Given the description of an element on the screen output the (x, y) to click on. 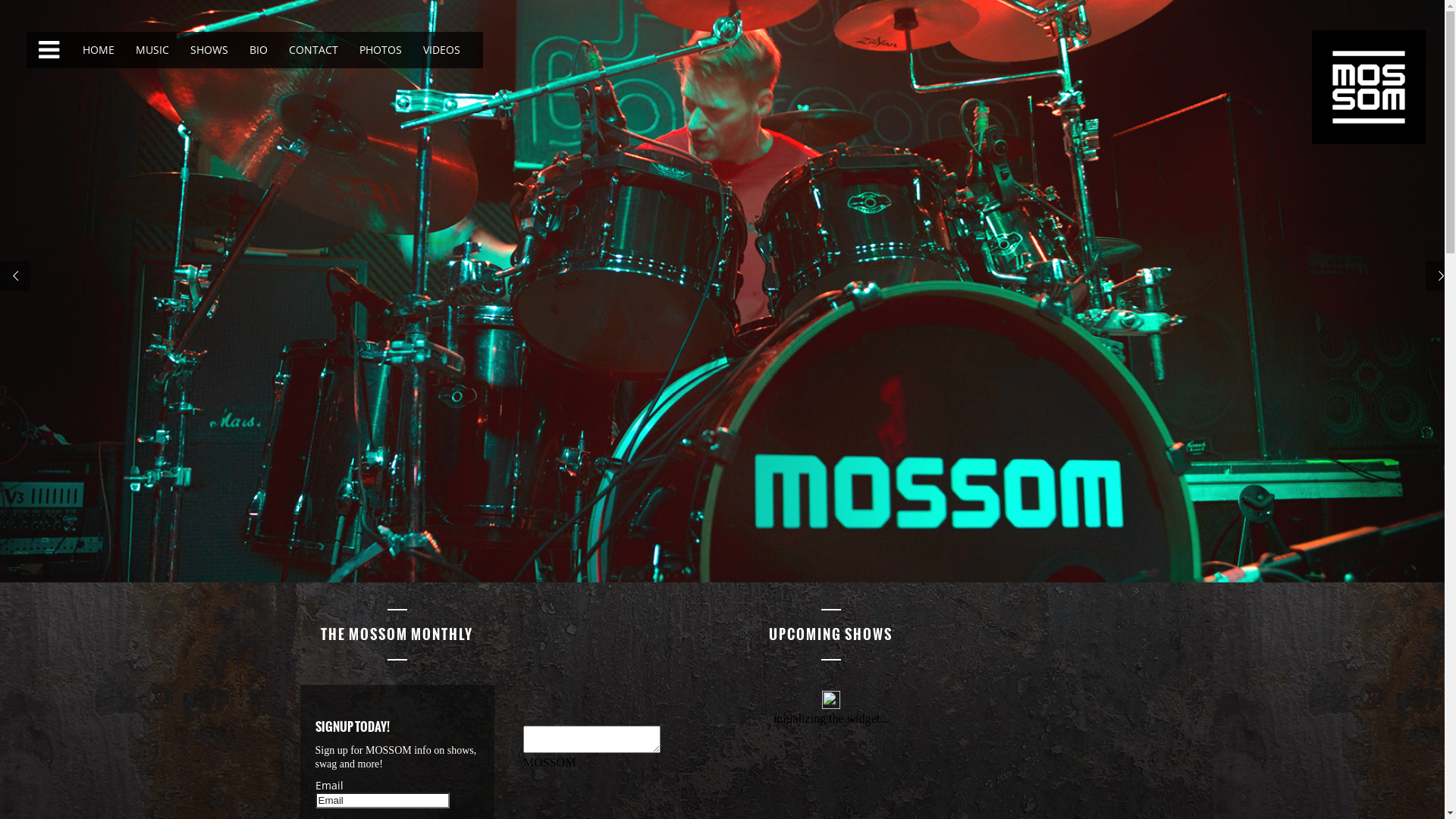
VIDEOS Element type: text (440, 49)
PHOTOS Element type: text (378, 49)
BIO Element type: text (256, 49)
MUSIC Element type: text (150, 49)
CONTACT Element type: text (311, 49)
SHOWS Element type: text (207, 49)
HOME Element type: text (96, 49)
